Given the description of an element on the screen output the (x, y) to click on. 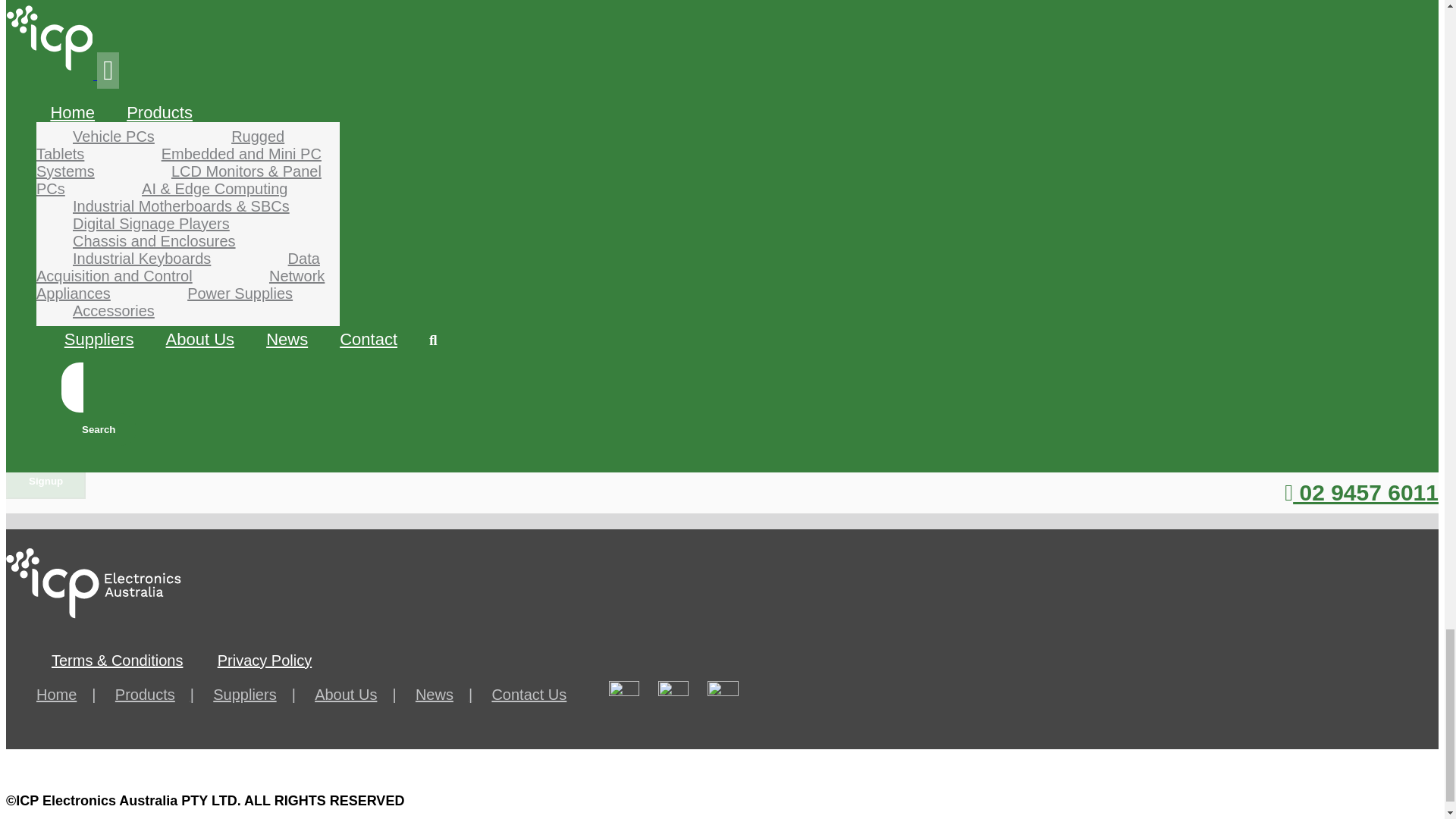
Products (162, 694)
Suppliers (261, 694)
Read more (45, 47)
Read more (45, 347)
Signup (45, 480)
Home (74, 694)
Privacy Policy (263, 660)
